Given the description of an element on the screen output the (x, y) to click on. 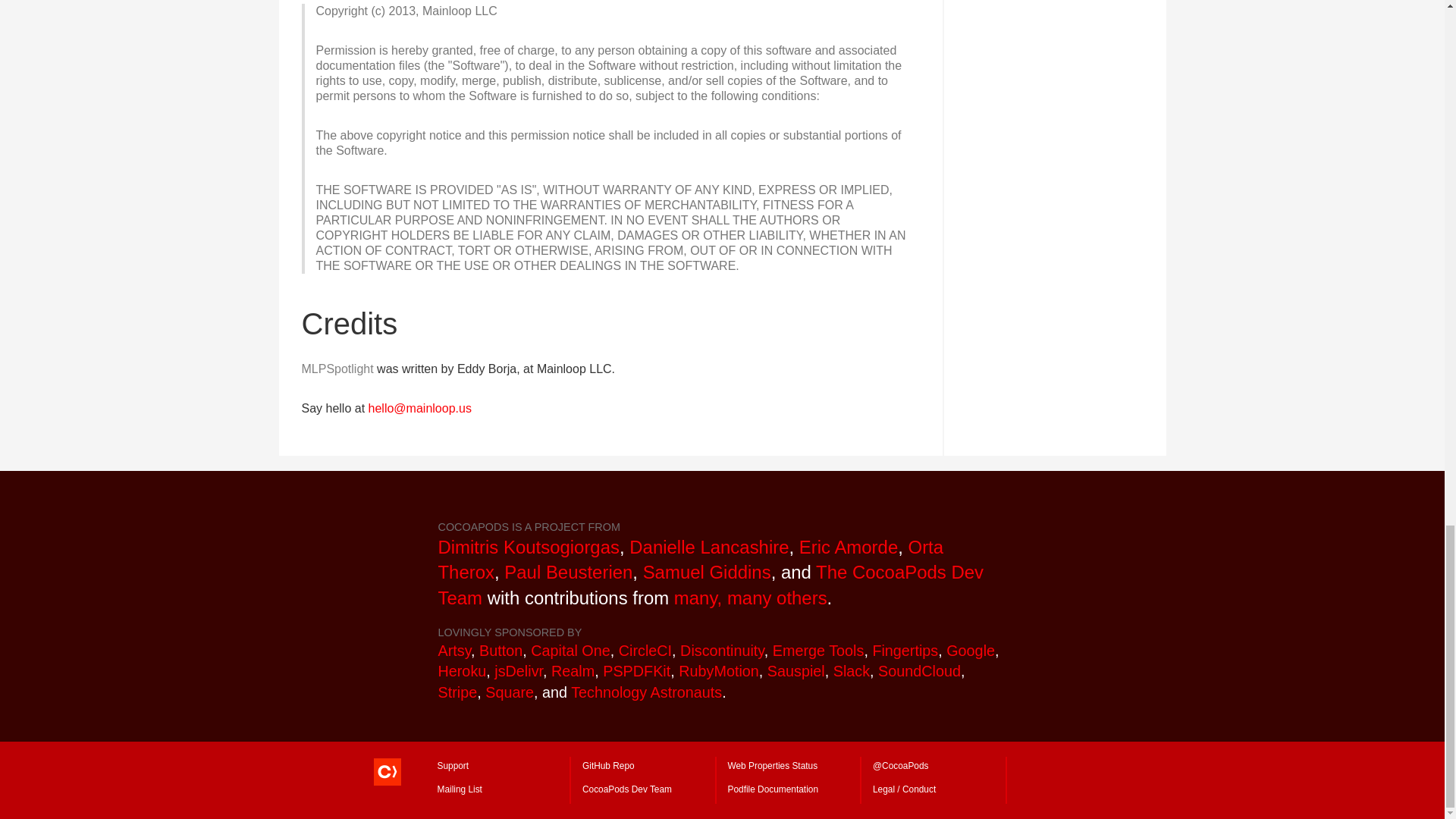
Eric Amorde (848, 547)
Artsy (454, 649)
Heroku (462, 670)
Paul Beusterien (567, 571)
The CocoaPods Dev Team (711, 584)
Dimitris Koutsogiorgas (529, 547)
Samuel Giddins (707, 571)
Danielle Lancashire (708, 547)
Emerge Tools (818, 649)
Fingertips (904, 649)
CircleCI (644, 649)
Google (970, 649)
Orta Therox (690, 560)
many, many others (750, 598)
Button (500, 649)
